Given the description of an element on the screen output the (x, y) to click on. 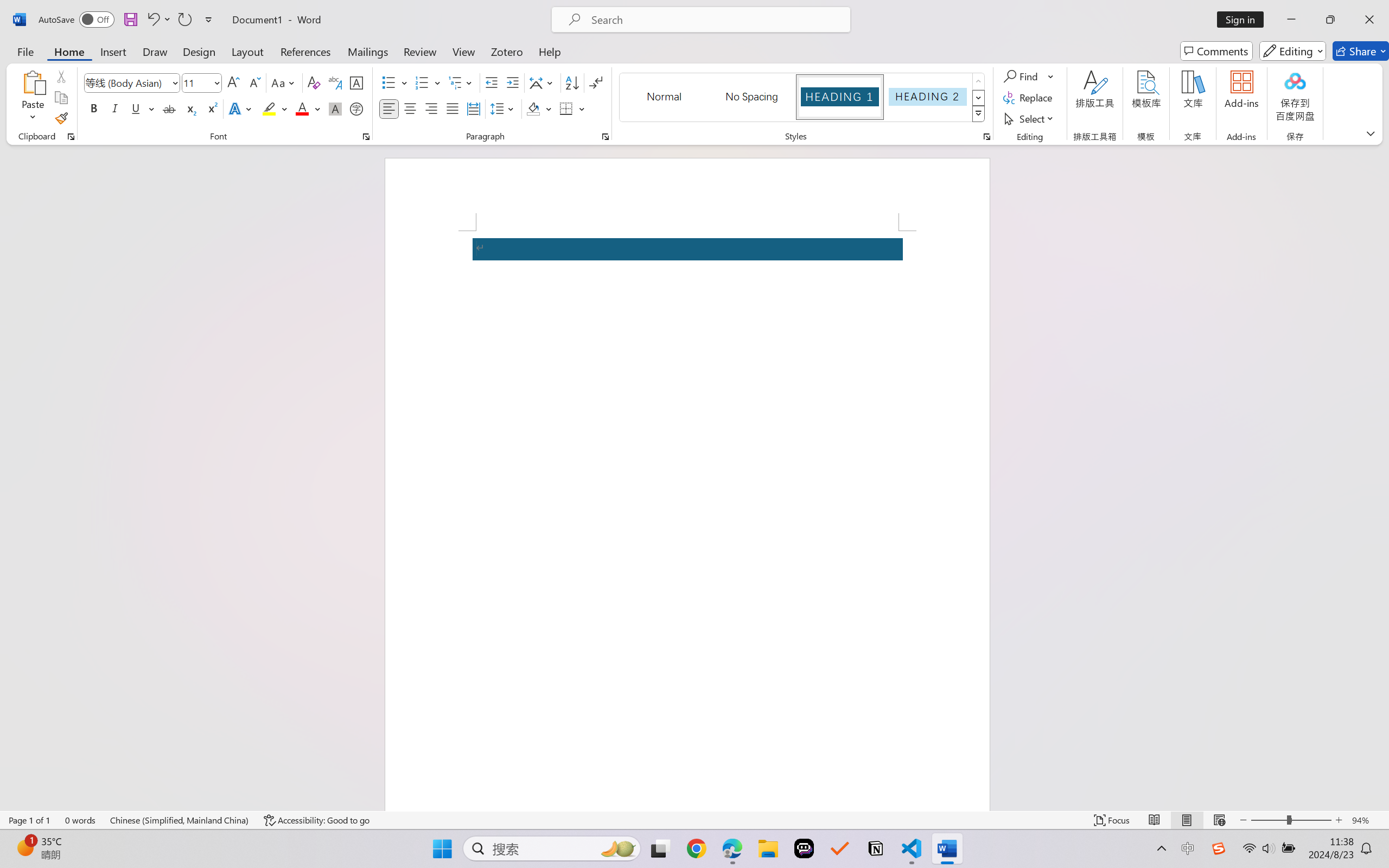
Google News (76, 12)
Guide (19, 69)
Gaming (61, 444)
YouTube Kids (61, 599)
Google Account (758, 12)
Advertise (27, 767)
Fashion & Beauty (61, 541)
No thanks (1351, 143)
